Given the description of an element on the screen output the (x, y) to click on. 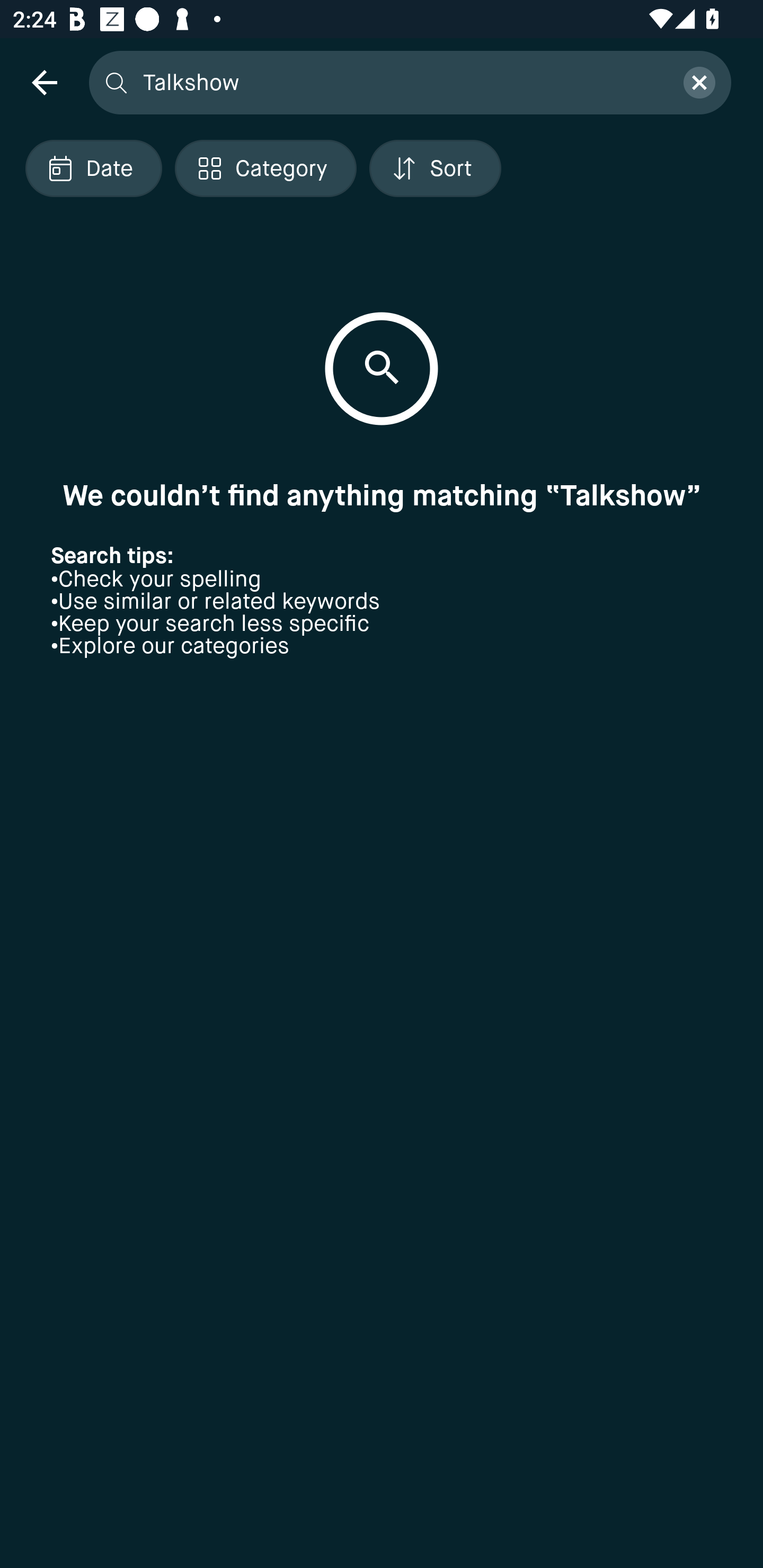
navigation icon (44, 81)
Talkshow (402, 81)
Localized description Date (93, 168)
Localized description Category (265, 168)
Localized description Sort (435, 168)
We couldn’t find anything matching “Talkshow” (381, 495)
